Given the description of an element on the screen output the (x, y) to click on. 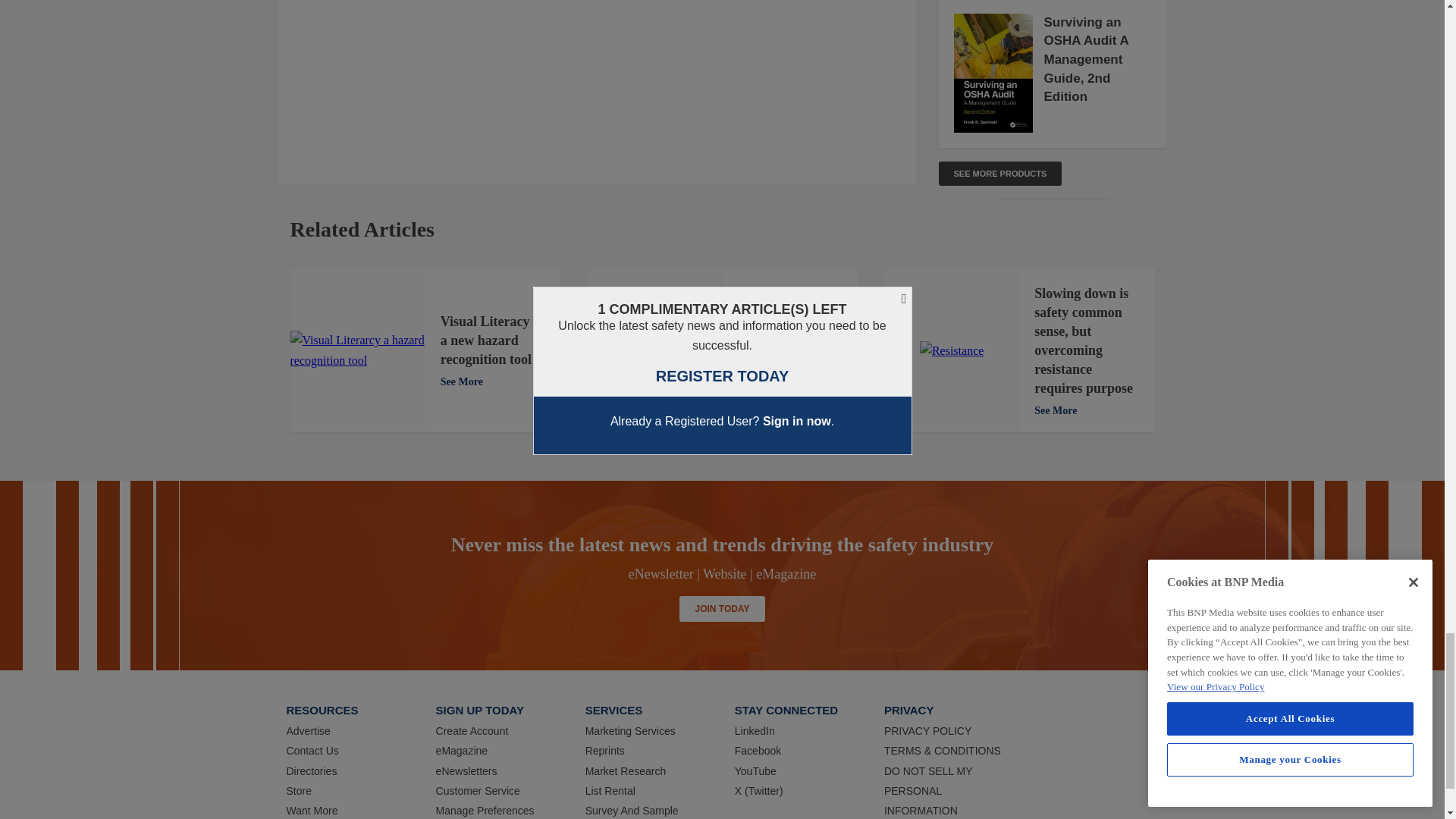
Visual Literarcy a hazard recognition tool (357, 350)
Return to work safely   (654, 351)
